Given the description of an element on the screen output the (x, y) to click on. 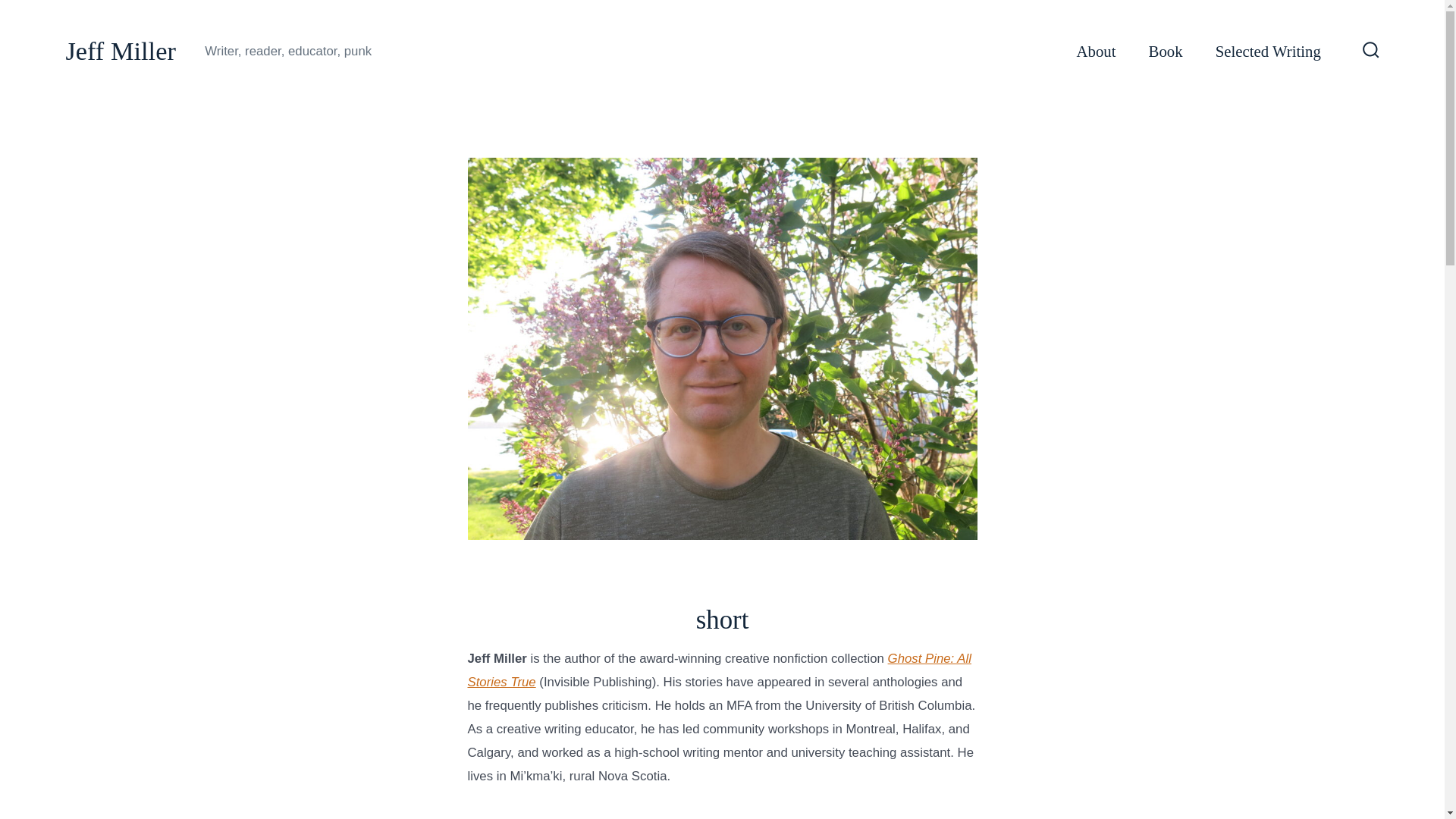
Search Toggle (1371, 50)
Selected Writing (1267, 51)
Ghost Pine: All Stories True (719, 670)
Jeff Miller (120, 51)
Book (1165, 51)
About (1096, 51)
